Given the description of an element on the screen output the (x, y) to click on. 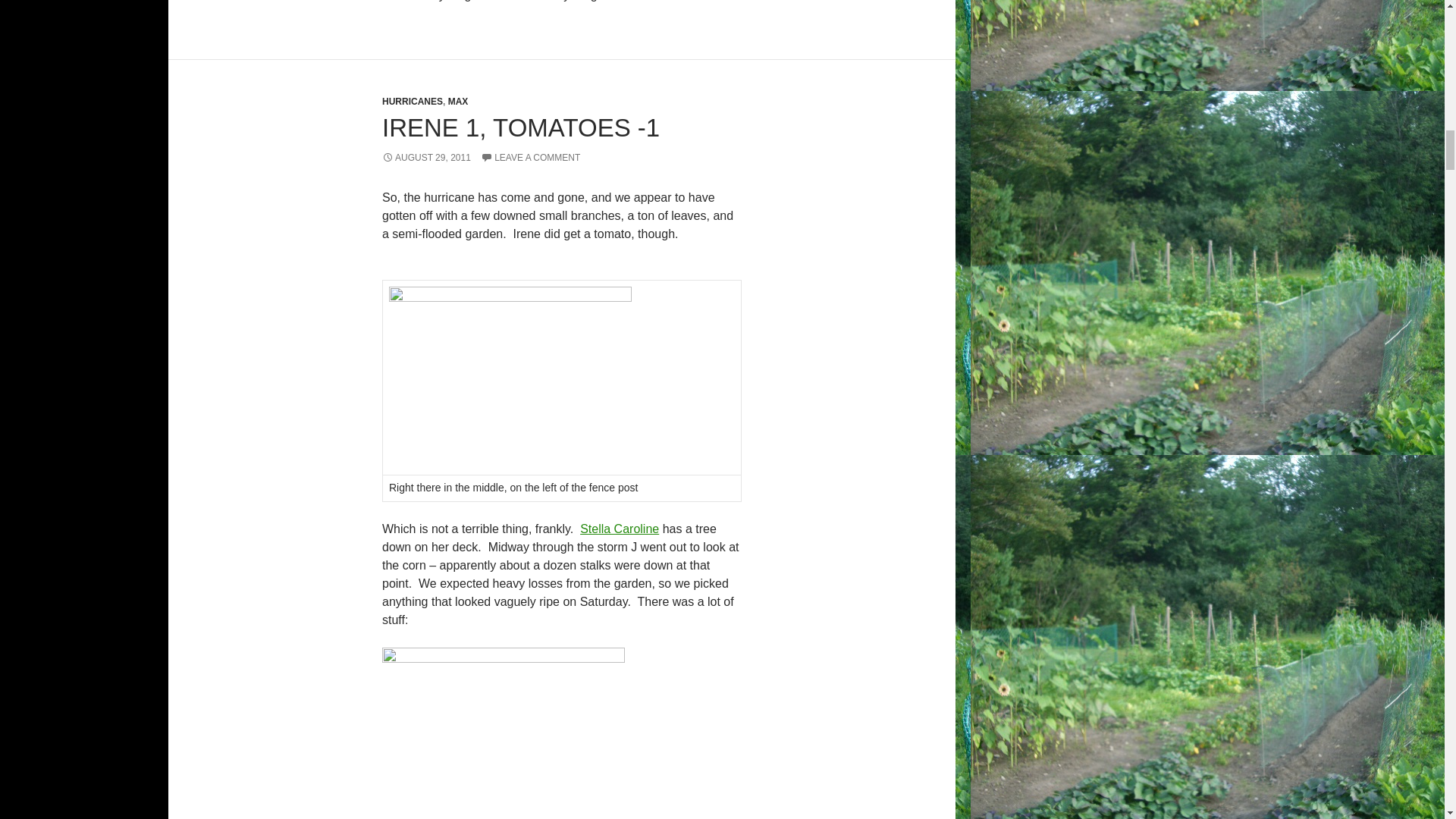
LEAVE A COMMENT (529, 157)
Stella Caroline (619, 528)
AUGUST 29, 2011 (425, 157)
IRENE 1, TOMATOES -1 (520, 127)
MAX (458, 101)
HURRICANES (411, 101)
